Given the description of an element on the screen output the (x, y) to click on. 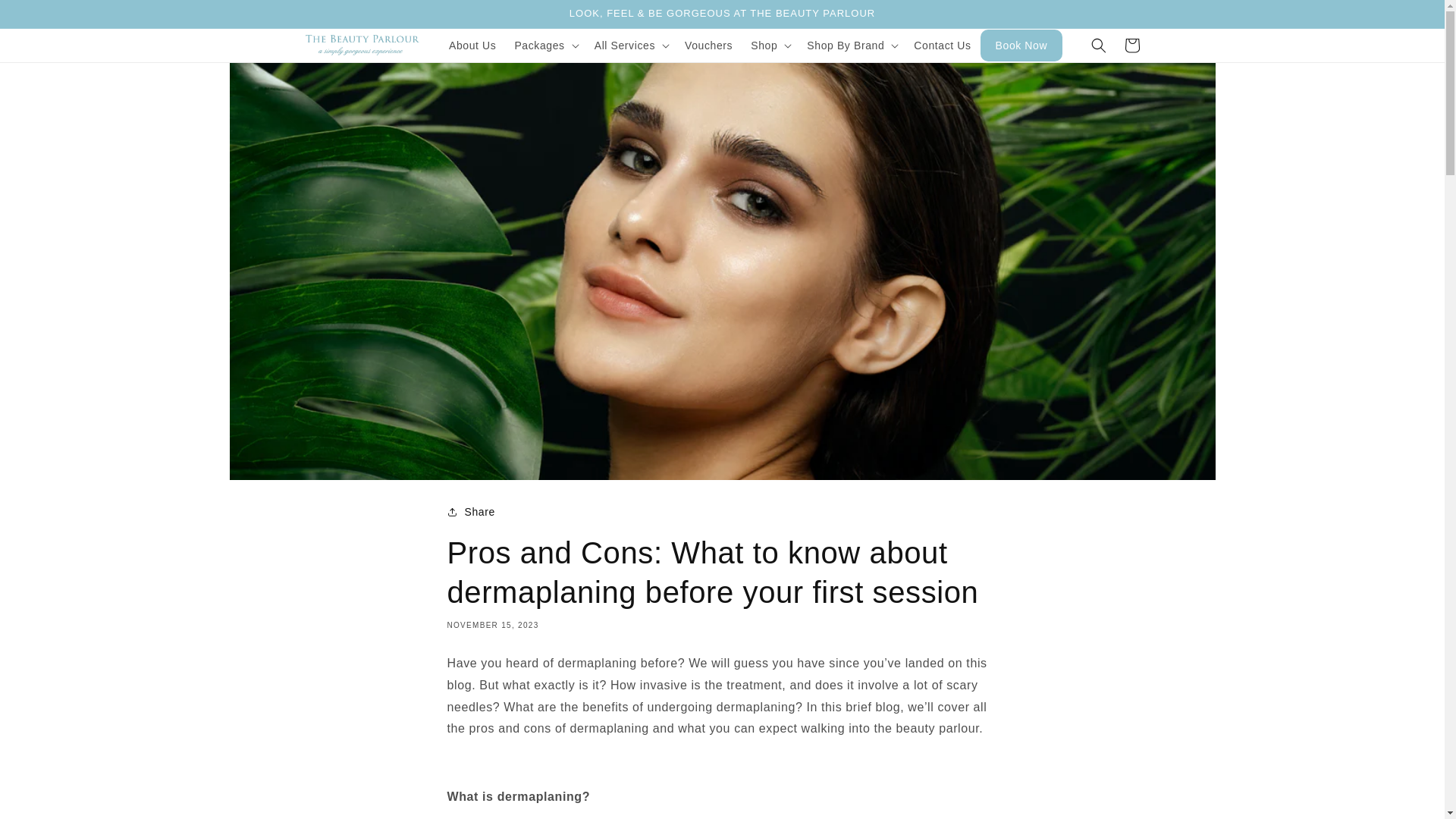
Skip to content (45, 17)
